Given the description of an element on the screen output the (x, y) to click on. 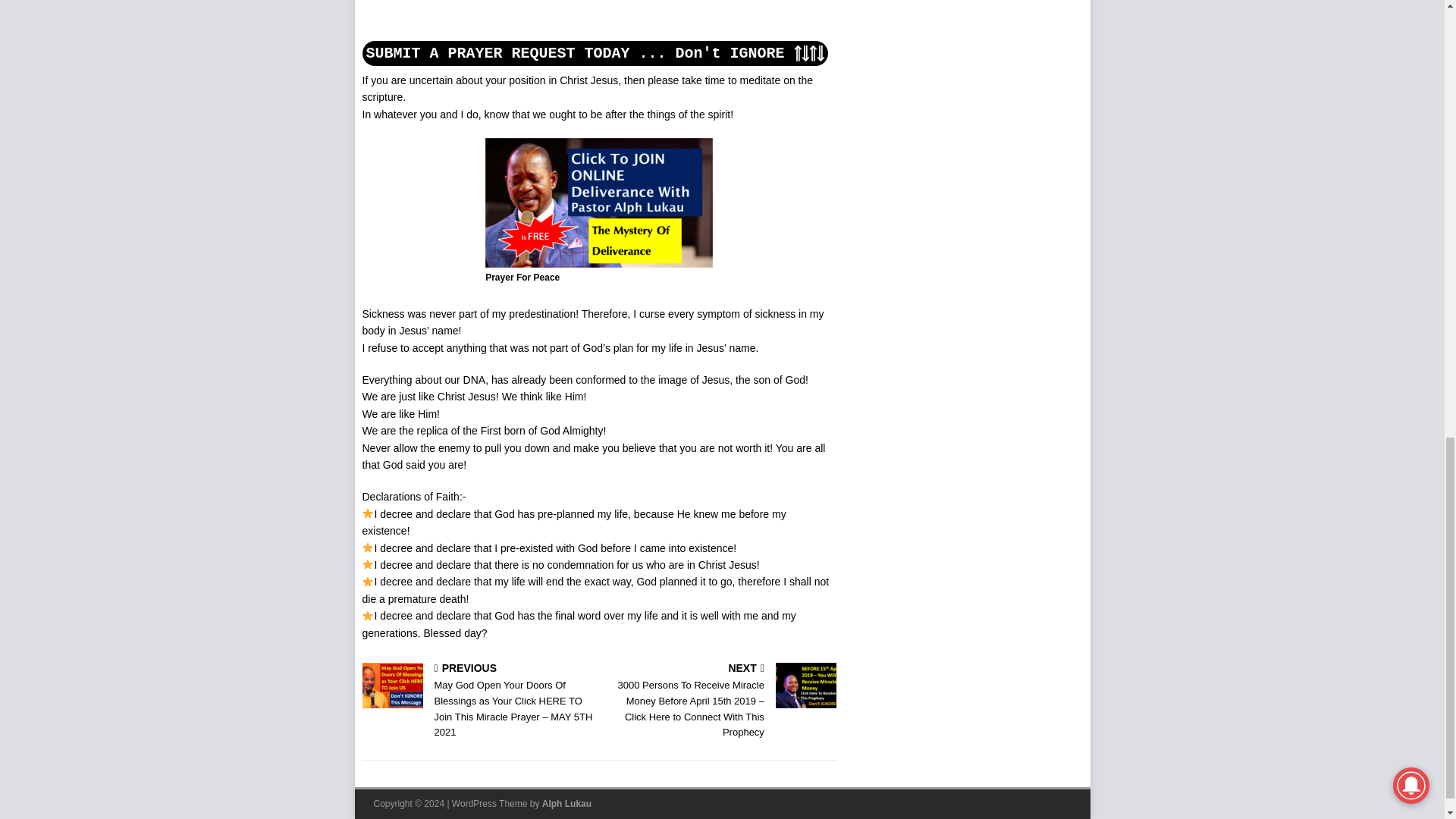
Alph Lukau (566, 803)
Advertisement (475, 18)
